Given the description of an element on the screen output the (x, y) to click on. 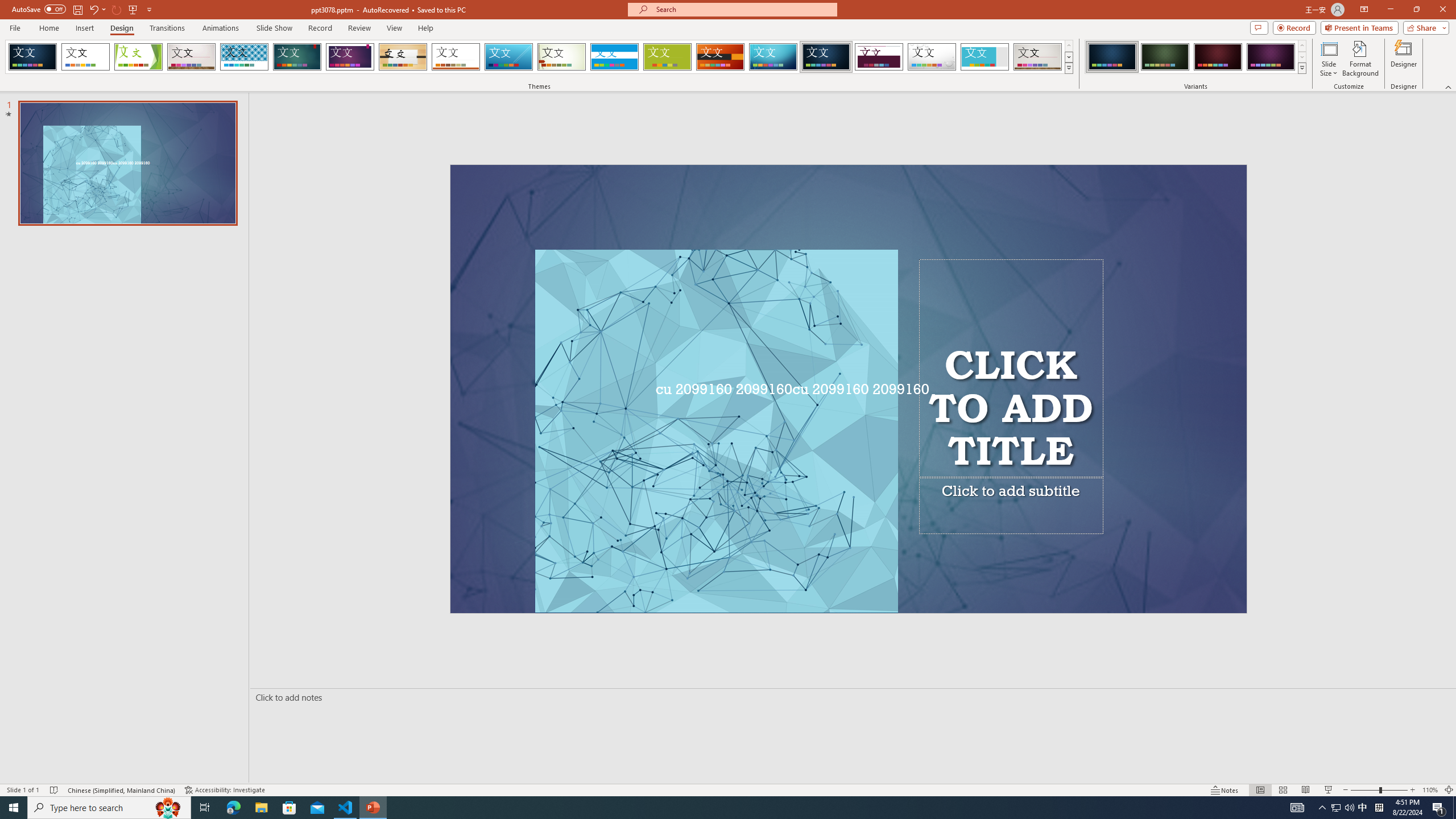
Damask (826, 56)
Droplet (931, 56)
Basis (667, 56)
